Given the description of an element on the screen output the (x, y) to click on. 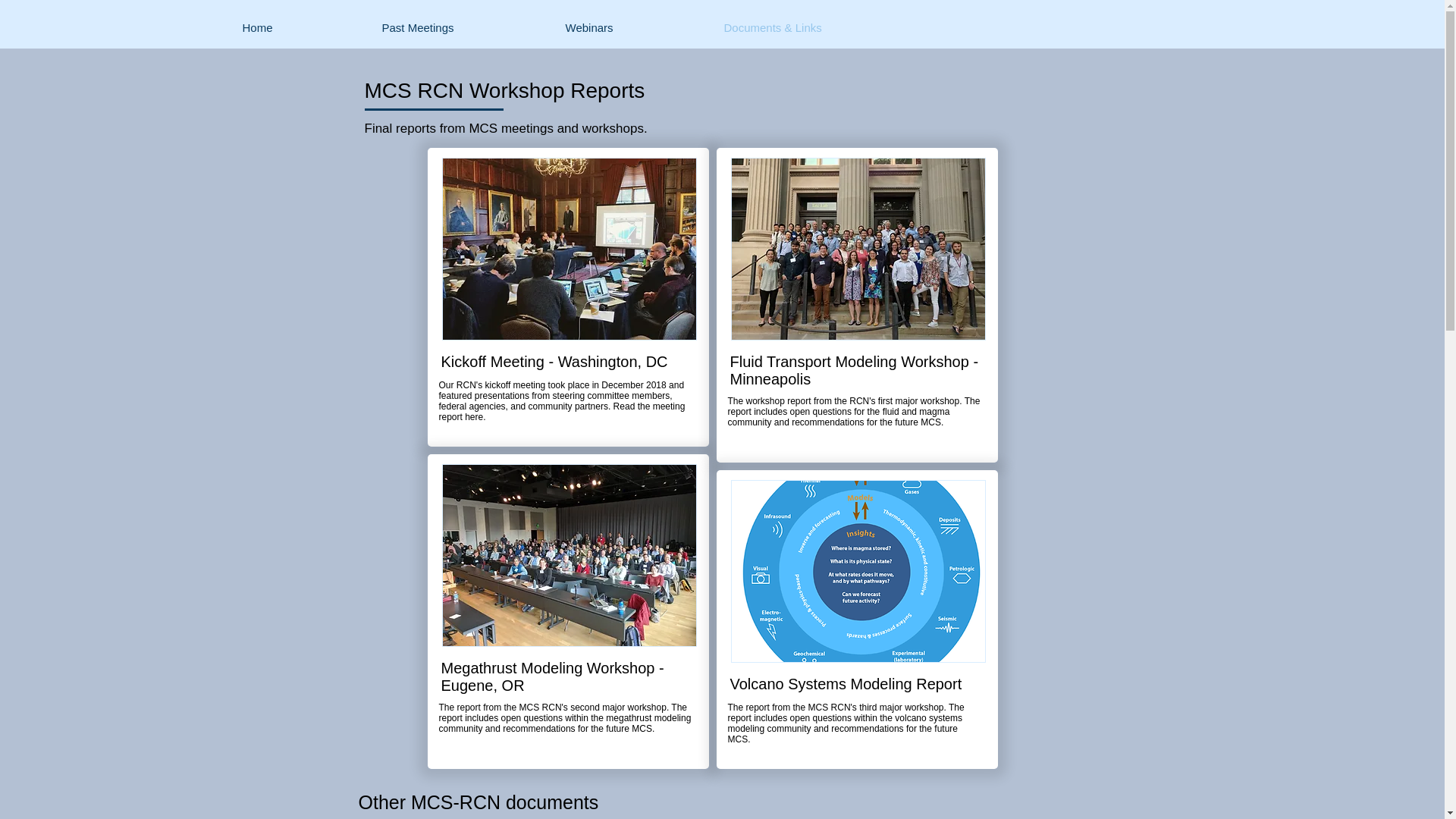
Home (299, 27)
Past Meetings (461, 27)
Webinars (632, 27)
